Given the description of an element on the screen output the (x, y) to click on. 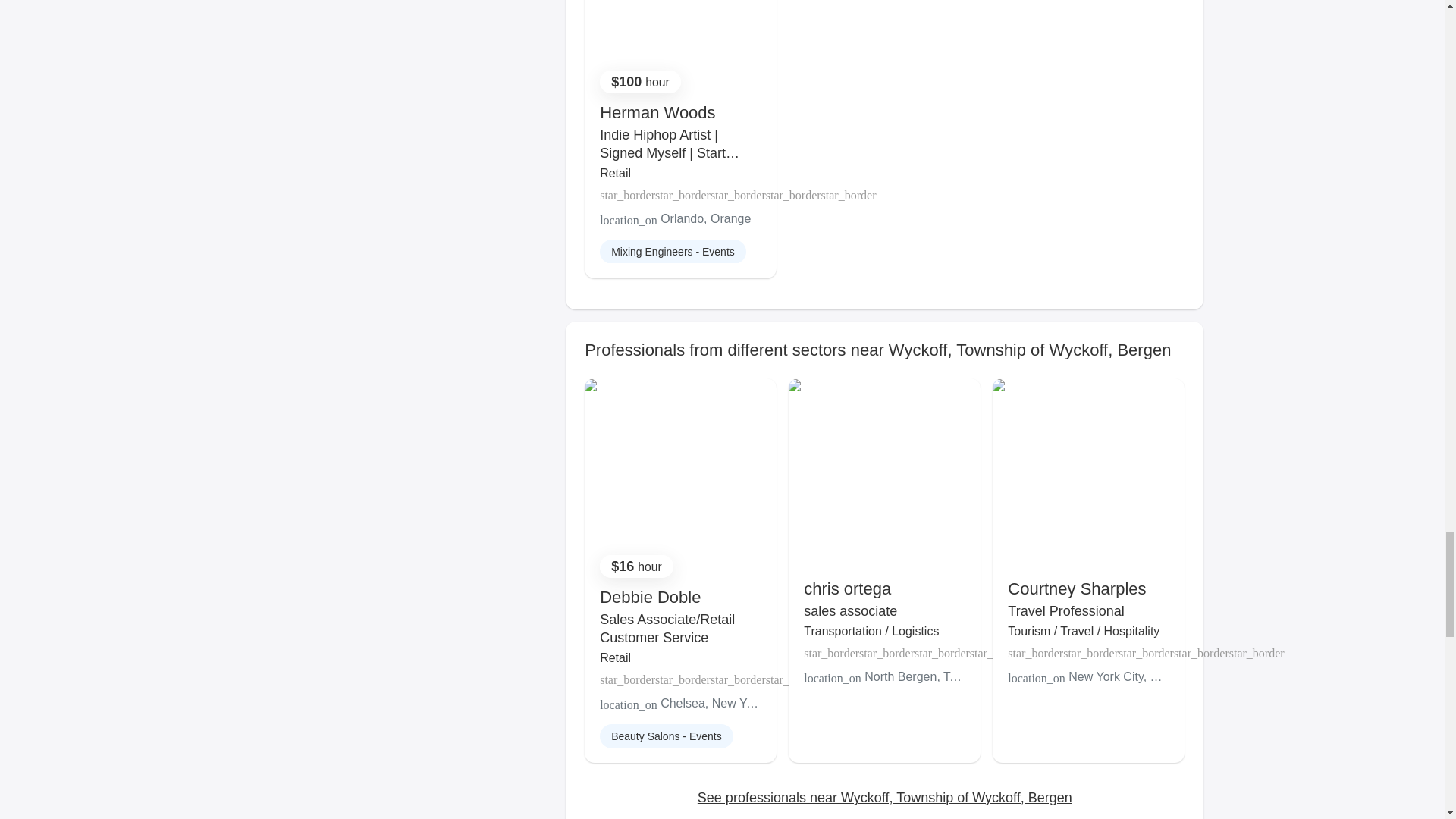
Debbie Doble (649, 597)
Herman Woods (656, 112)
